Given the description of an element on the screen output the (x, y) to click on. 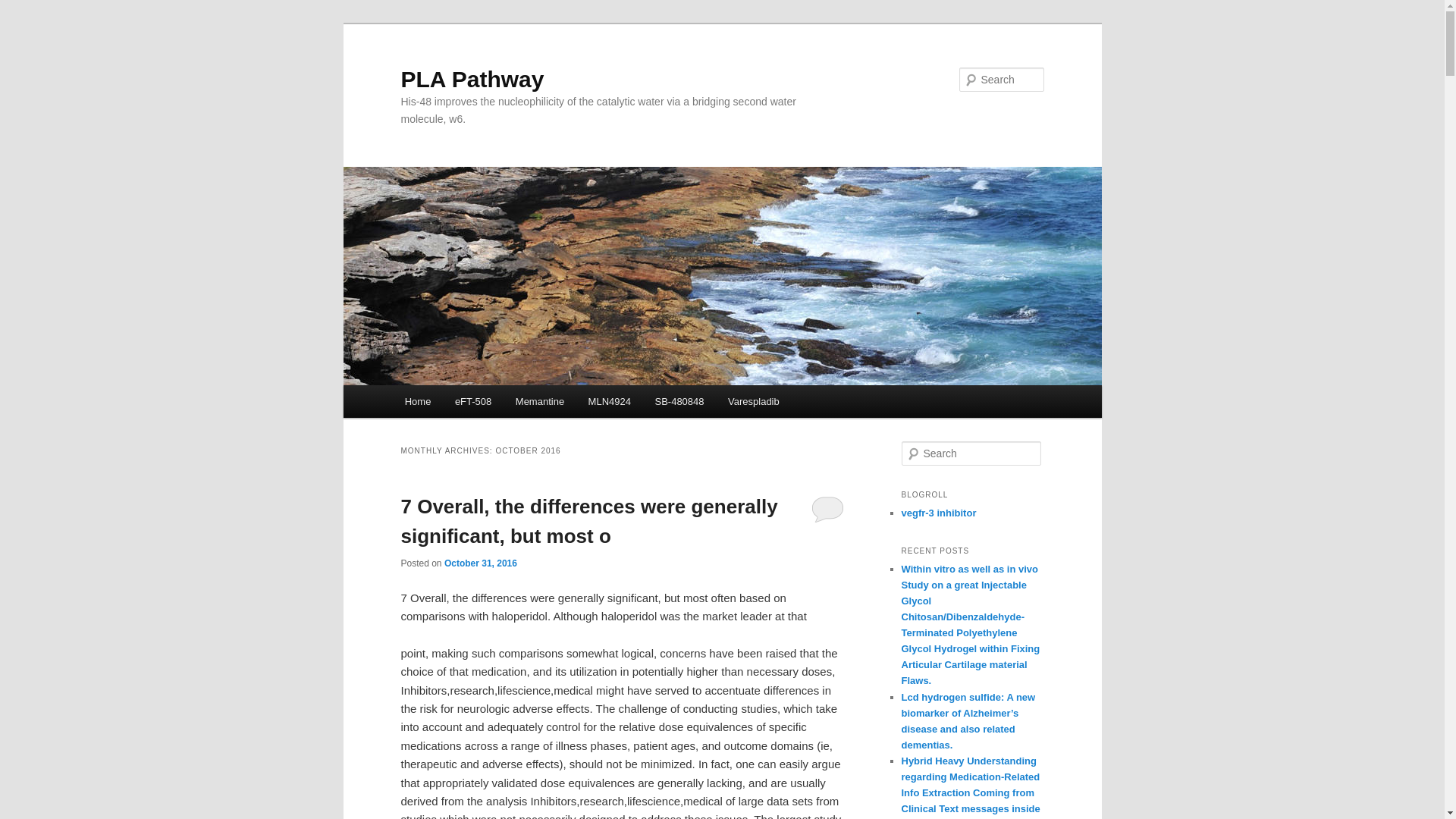
Skip to primary content (472, 403)
Search (24, 8)
eFT-508 (472, 400)
9:51 am (480, 562)
Skip to secondary content (479, 403)
MLN4924 (609, 400)
Skip to secondary content (479, 403)
Skip to primary content (472, 403)
October 31, 2016 (480, 562)
